Given the description of an element on the screen output the (x, y) to click on. 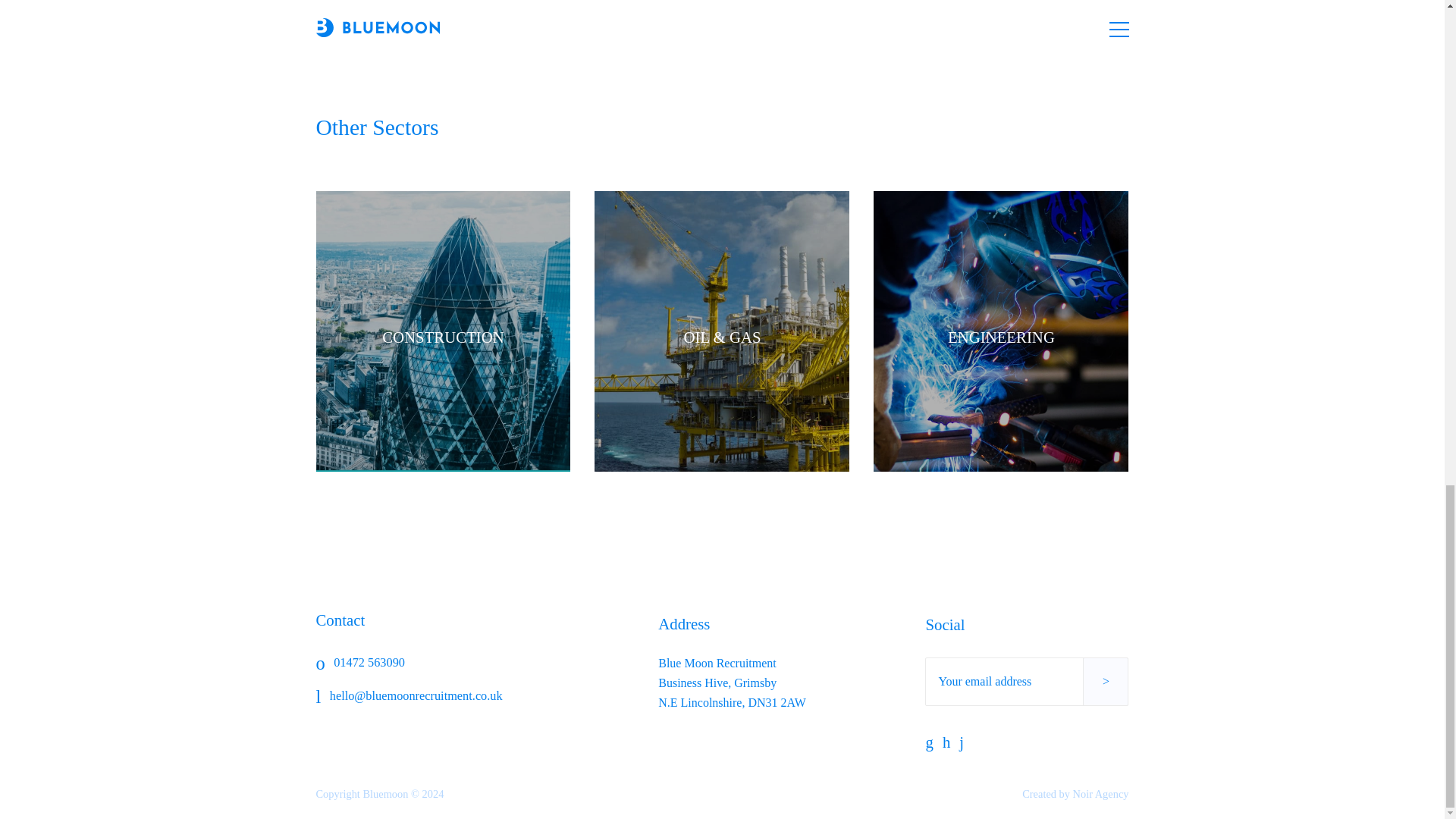
ENGINEERING (1000, 330)
CONSTRUCTION (442, 330)
Created by Noir Agency (1075, 793)
01472 563090 (408, 663)
